Given the description of an element on the screen output the (x, y) to click on. 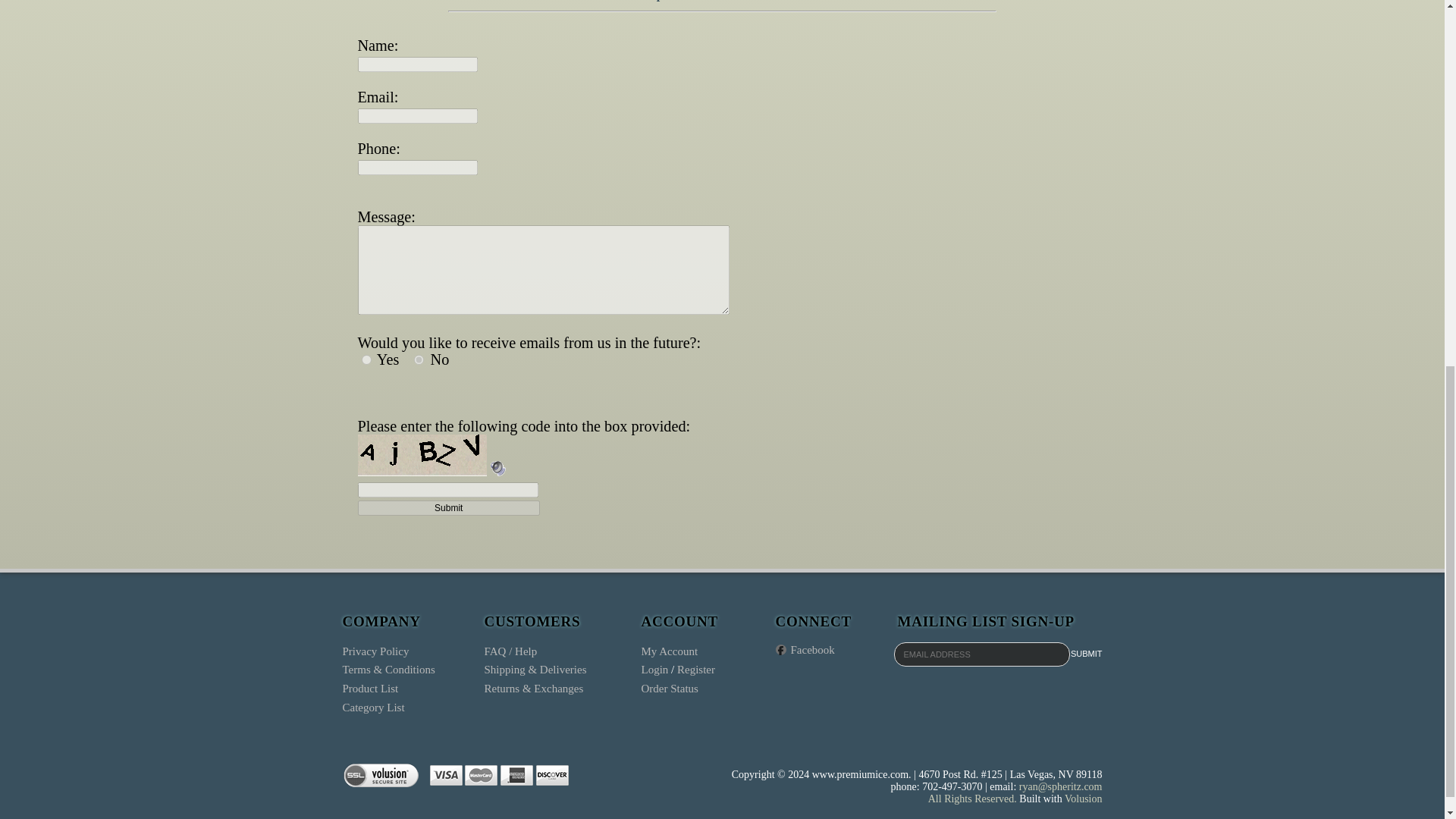
Submit (1086, 652)
Order Status (670, 688)
Frequently Asked Questions (510, 650)
Yes (366, 359)
My Account (670, 650)
Register (695, 669)
Submit (449, 507)
Login (655, 669)
Submit (1086, 652)
Register (695, 669)
My Account (670, 650)
Privacy Policy (375, 650)
Terms and Conditions (388, 669)
Shipping Policy (534, 669)
Product List (370, 688)
